Given the description of an element on the screen output the (x, y) to click on. 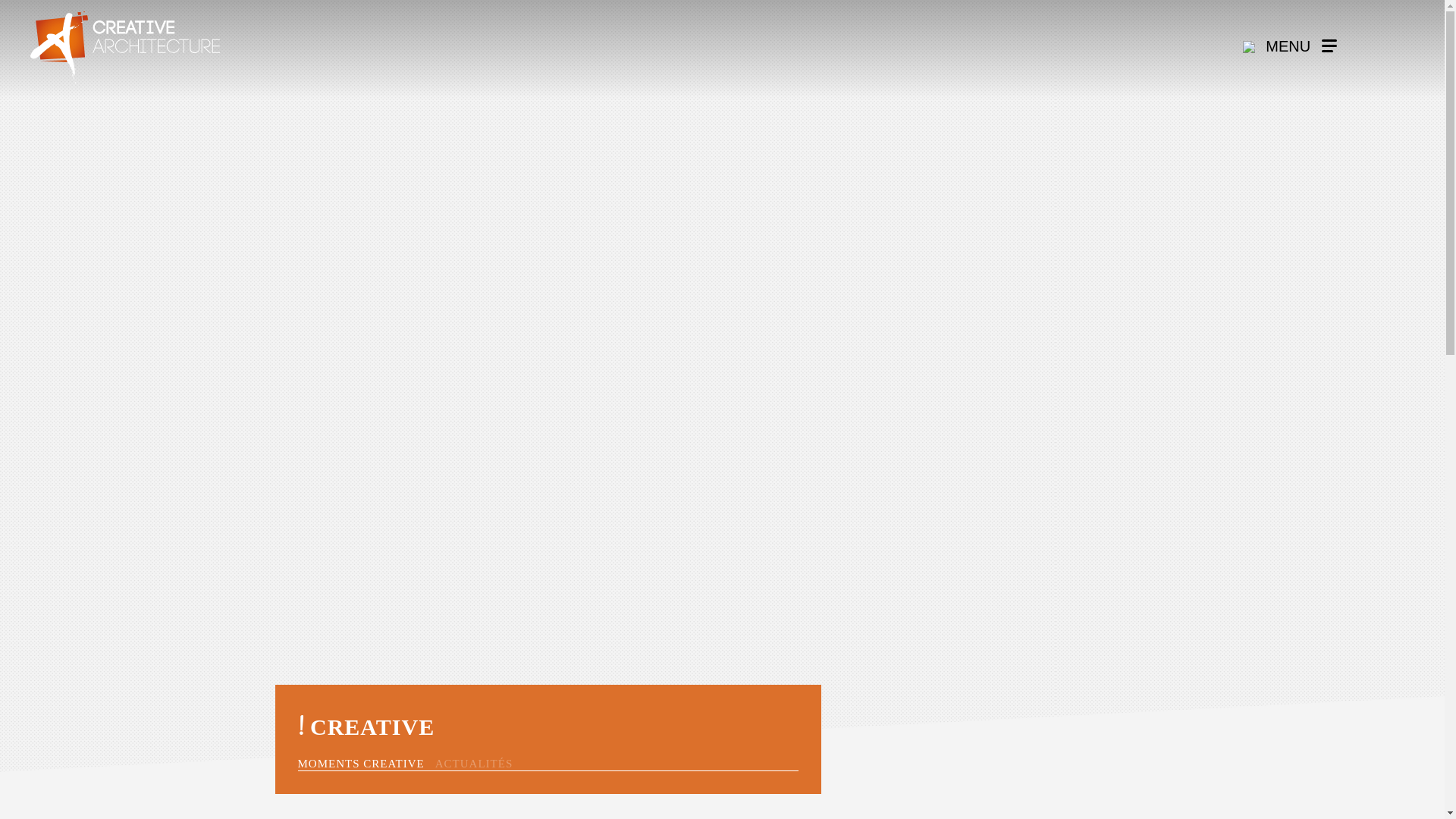
MOMENTS CREATIVE Element type: text (364, 763)
